Given the description of an element on the screen output the (x, y) to click on. 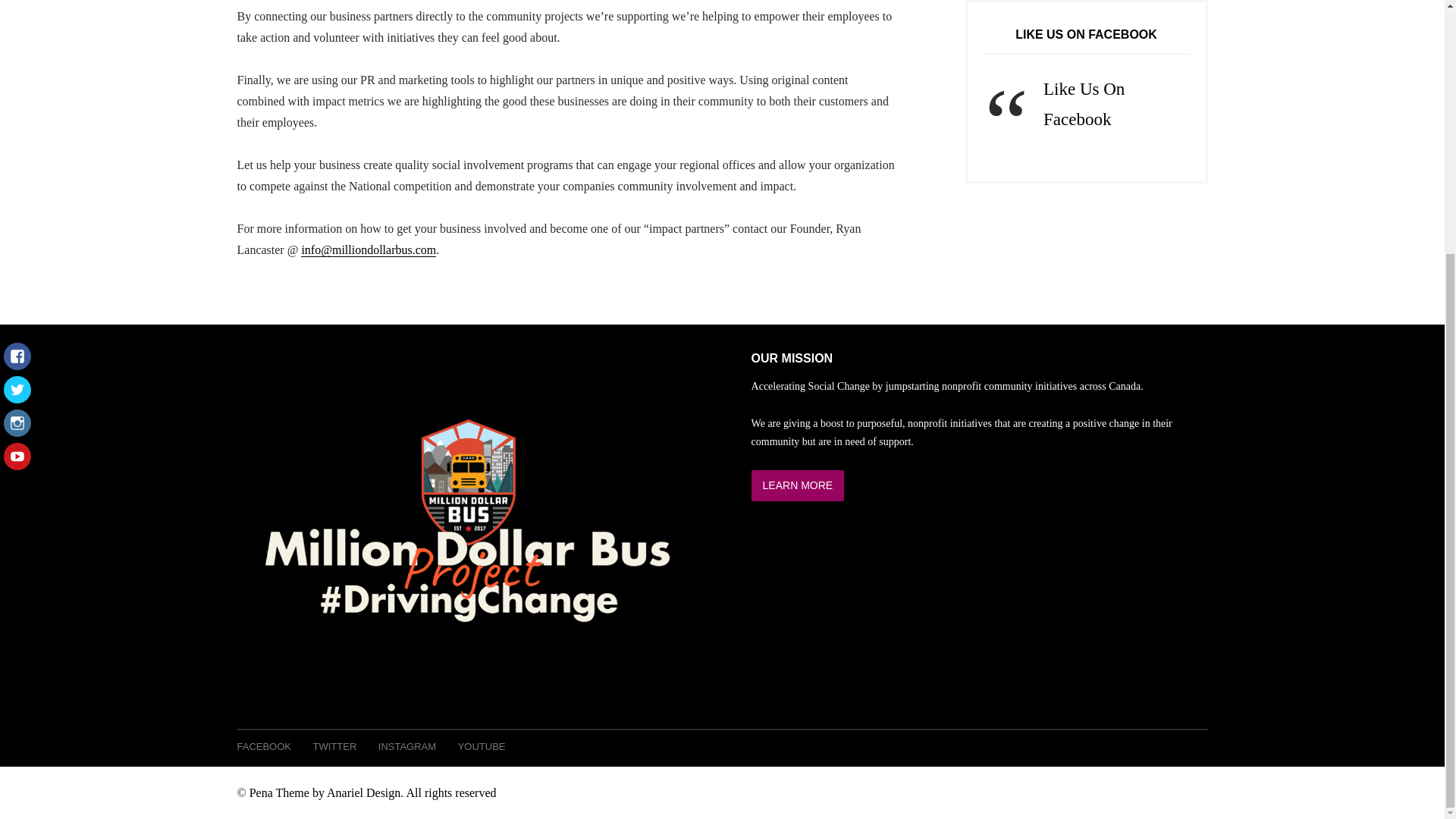
Twitter (17, 38)
LIKE US ON FACEBOOK (1085, 33)
Facebook (17, 9)
YOUTUBE (481, 746)
Pena Theme by Anariel Design. All rights reserved (372, 792)
Like Us On Facebook (1083, 103)
YouTube (17, 104)
TWITTER (334, 746)
Million Dollar Bus (372, 792)
LEARN MORE (797, 485)
